Given the description of an element on the screen output the (x, y) to click on. 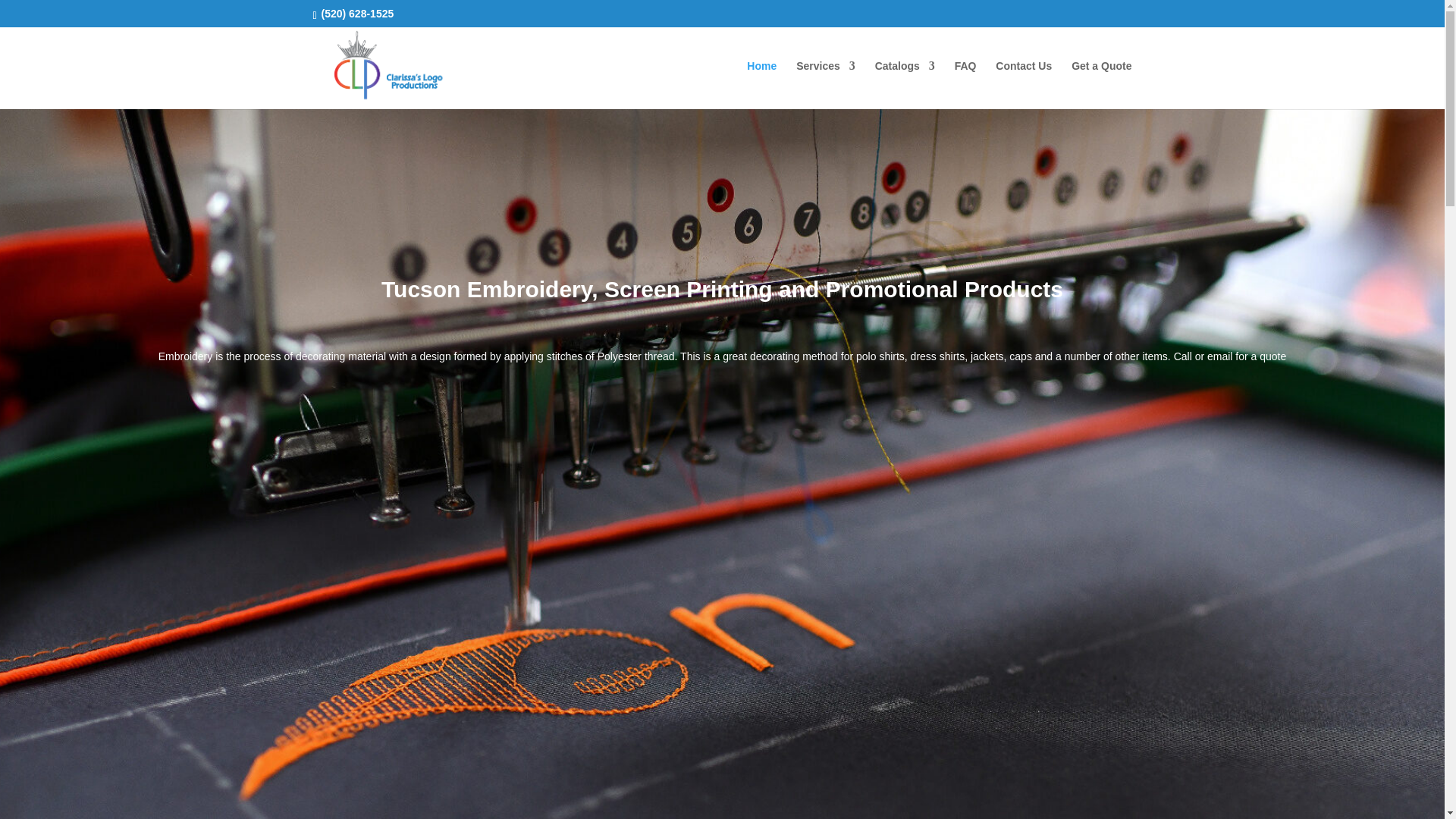
Get a Quote (1101, 84)
Catalogs (904, 84)
Contact Us (1023, 84)
Services (826, 84)
